Given the description of an element on the screen output the (x, y) to click on. 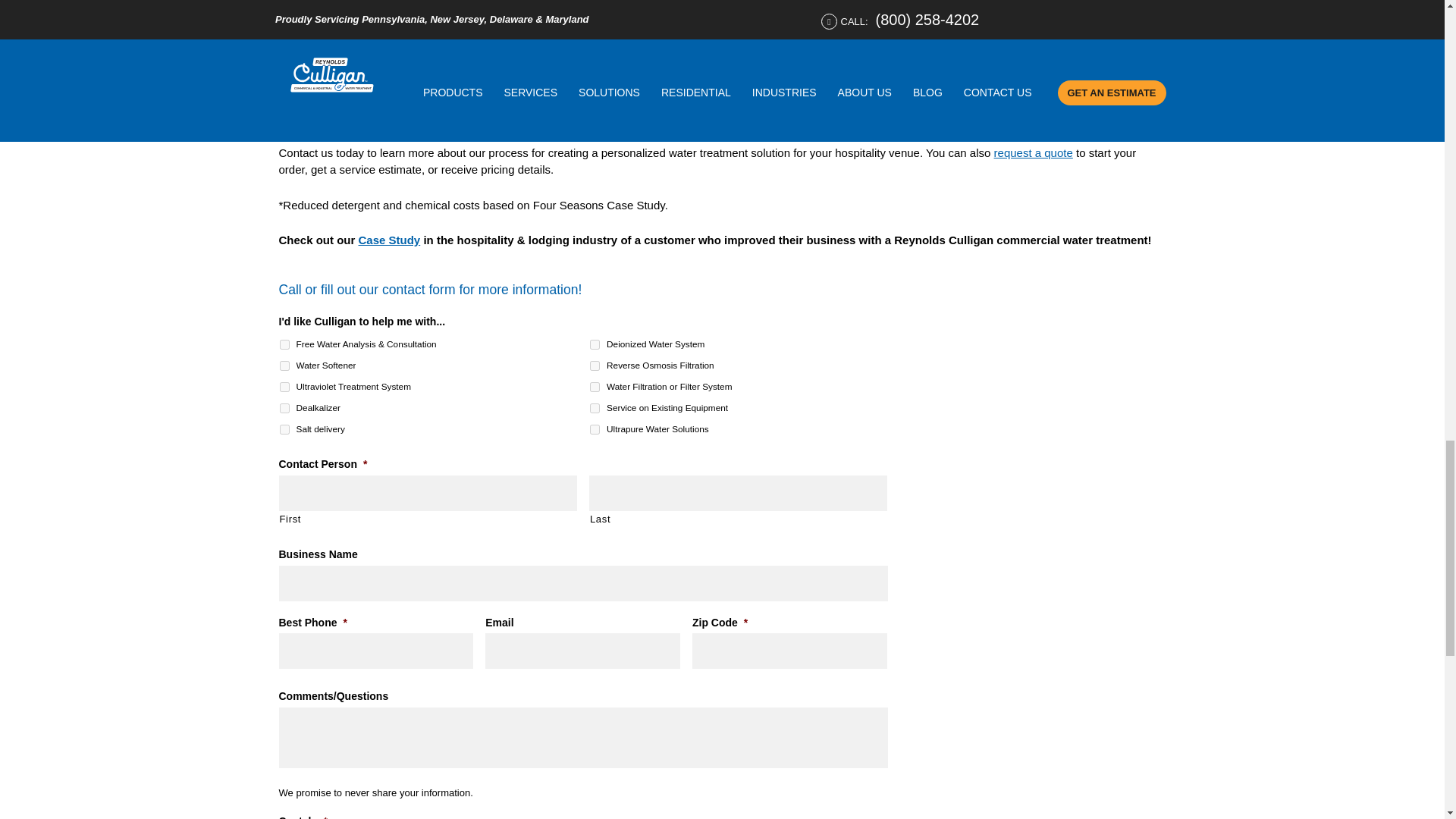
Water Softener (283, 366)
Service on Existing Equipment (594, 408)
Salt delivery (283, 429)
Dealkalizer (283, 408)
Deionized Water System (594, 344)
Ultrapure Water Solutions (594, 429)
Water Filtration or Filter System (594, 387)
Reverse Osmosis Filtration (594, 366)
Ultraviolet Treatment System (283, 387)
